Given the description of an element on the screen output the (x, y) to click on. 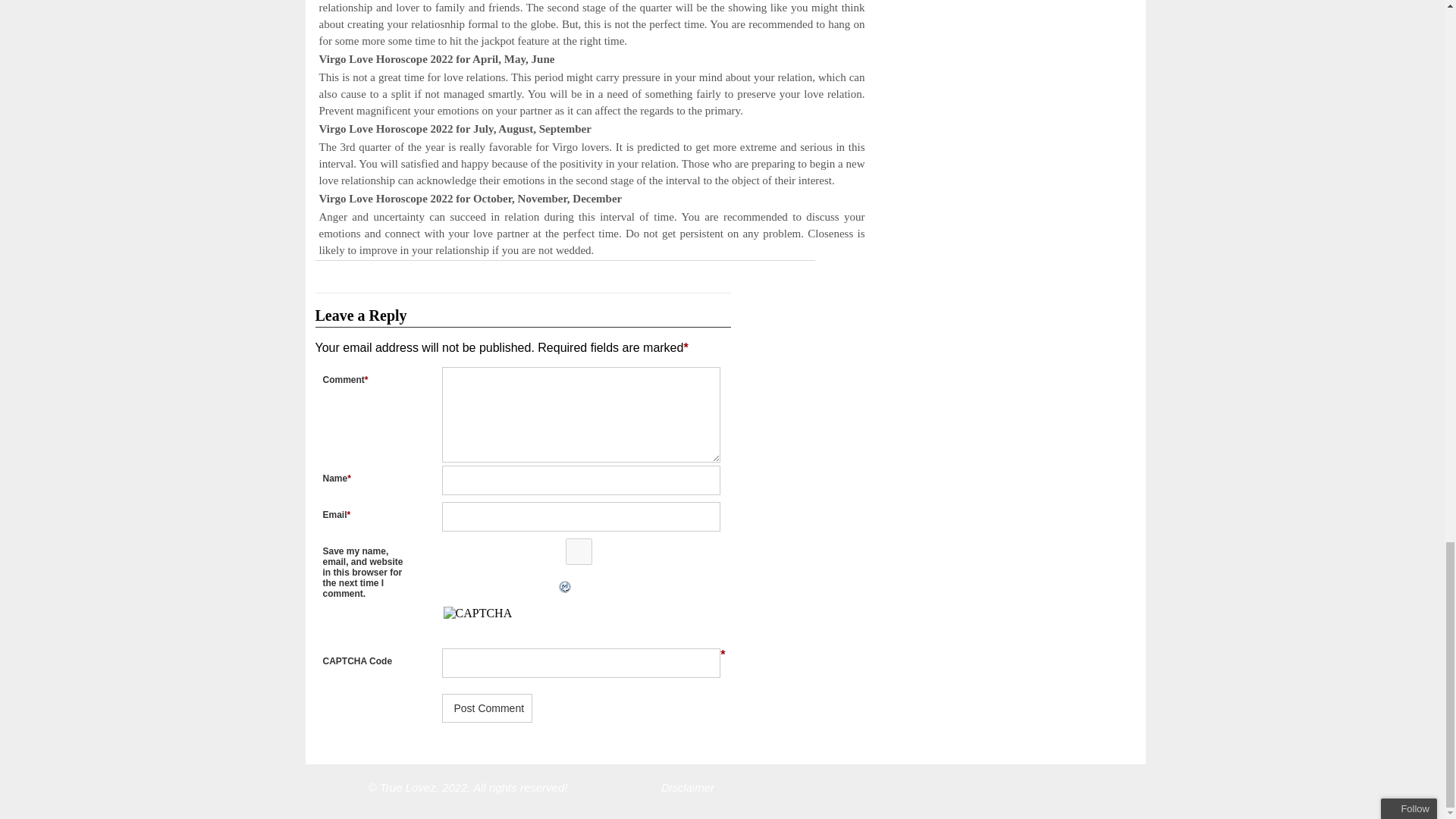
Post Comment (486, 707)
Post Comment (486, 707)
yes (578, 551)
CAPTCHA (494, 623)
Refresh (437, 586)
